Given the description of an element on the screen output the (x, y) to click on. 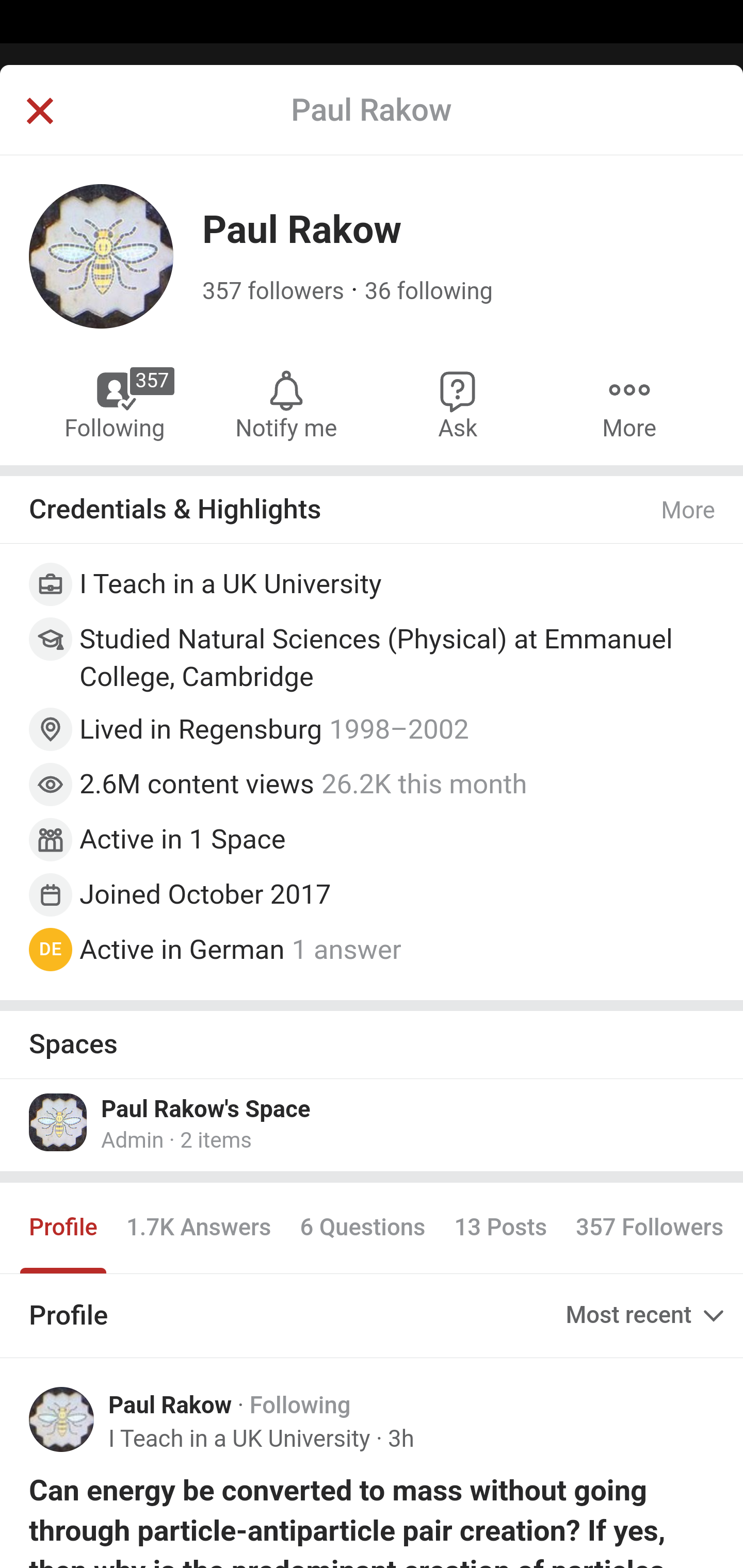
 (39, 112)
357 followers (273, 291)
36 following (428, 291)
Following Paul Rakow 357 Following (115, 404)
Notify me (285, 404)
Ask (458, 404)
More (628, 404)
More (688, 510)
Add employment credential (372, 587)
Active in German Active in  German (182, 948)
Icon for Paul Rakow's Space (58, 1121)
Paul Rakow's Space (206, 1108)
Profile (63, 1227)
1.7K Answers (197, 1227)
6 Questions (362, 1227)
13 Posts (500, 1227)
357 Followers (648, 1227)
Most recent (647, 1315)
Profile photo for Paul Rakow (61, 1419)
Paul Rakow (170, 1405)
Following (300, 1405)
